Given the description of an element on the screen output the (x, y) to click on. 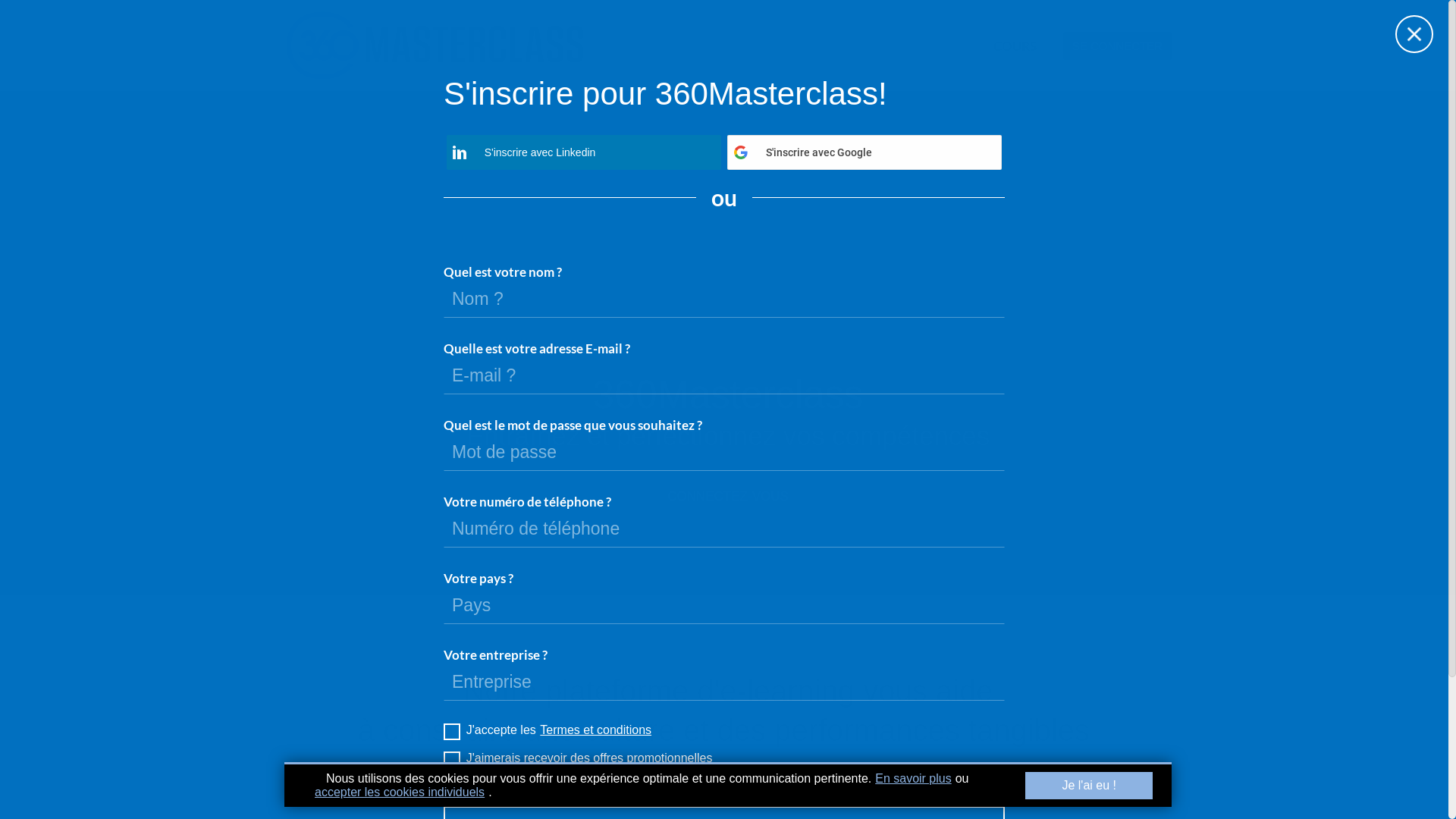
S'inscrire avec Google Element type: text (864, 151)
accepter les cookies individuels Element type: text (399, 792)
S'inscrire avec Linkedin Element type: text (583, 151)
Termes et conditions Element type: text (595, 729)
COURS Element type: text (1015, 44)
En savoir plus Element type: text (913, 778)
Je l'ai eu ! Element type: text (1088, 785)
CONNECTEZ-VOUS Element type: text (727, 495)
SE CONNECTER Element type: text (1117, 45)
